Given the description of an element on the screen output the (x, y) to click on. 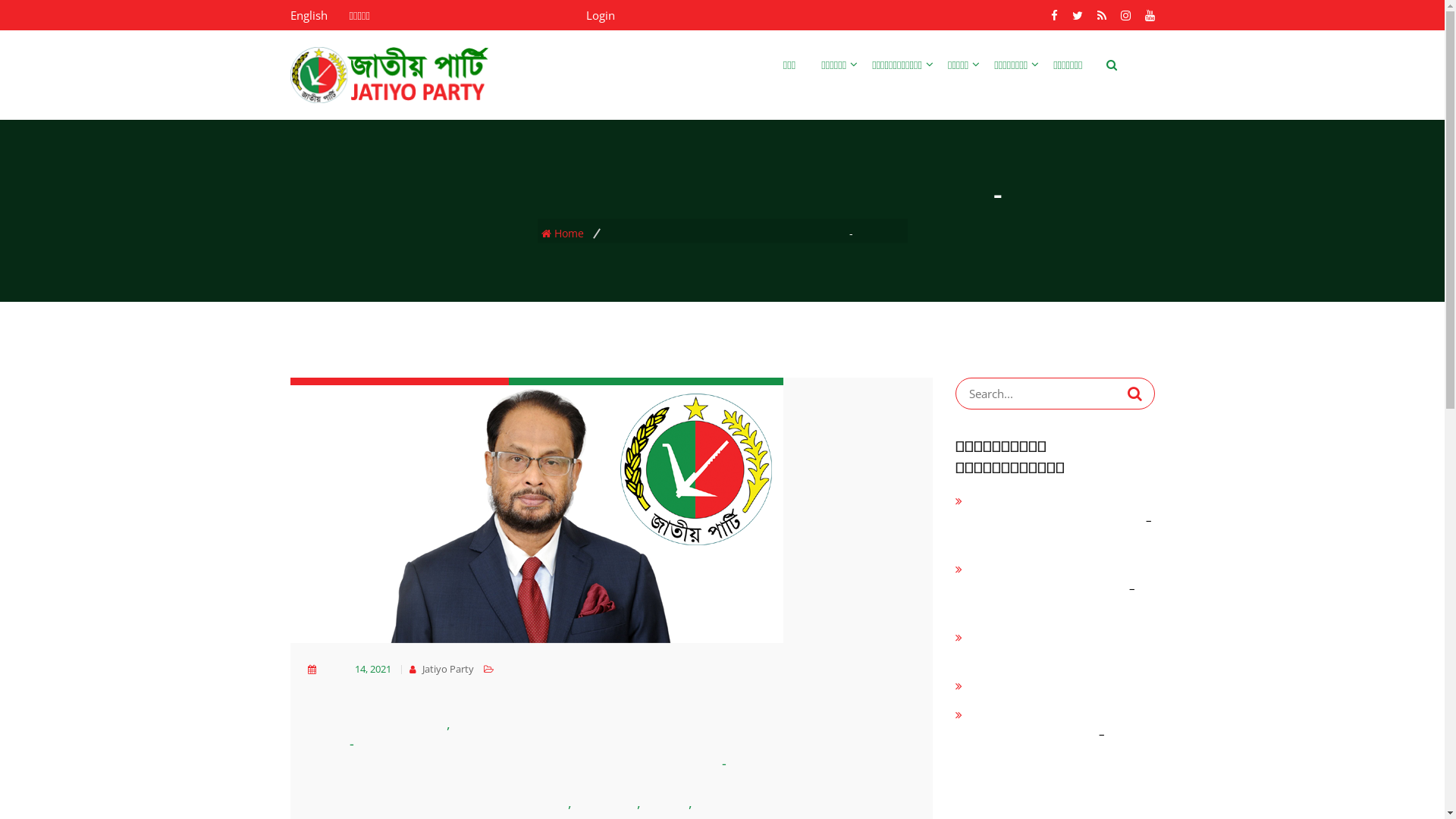
Search Element type: text (1134, 393)
English Element type: text (307, 14)
Jatiyo Party Element type: text (446, 668)
Home Element type: text (573, 233)
Login Element type: text (599, 14)
